Given the description of an element on the screen output the (x, y) to click on. 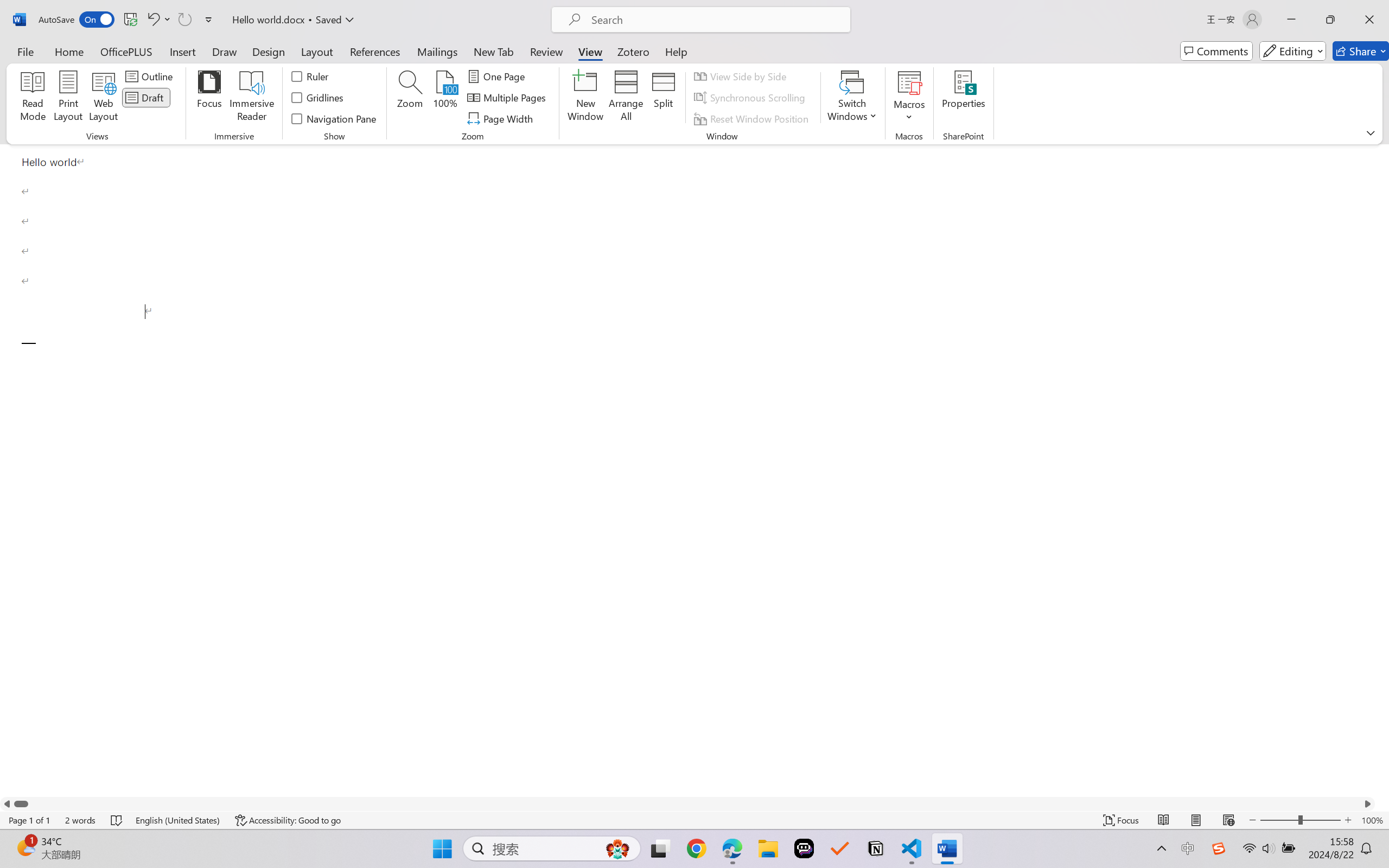
Zoom Out (1278, 819)
Zoom 100% (1372, 819)
Design (268, 51)
AutomationID: BadgeAnchorLargeTicker (24, 847)
100% (445, 97)
Can't Repeat (184, 19)
Undo Paragraph Formatting (158, 19)
Column right (1368, 803)
Undo Paragraph Formatting (152, 19)
Print Layout (1196, 819)
Ruler (309, 75)
New Tab (493, 51)
Page Number Page 1 of 1 (29, 819)
